Given the description of an element on the screen output the (x, y) to click on. 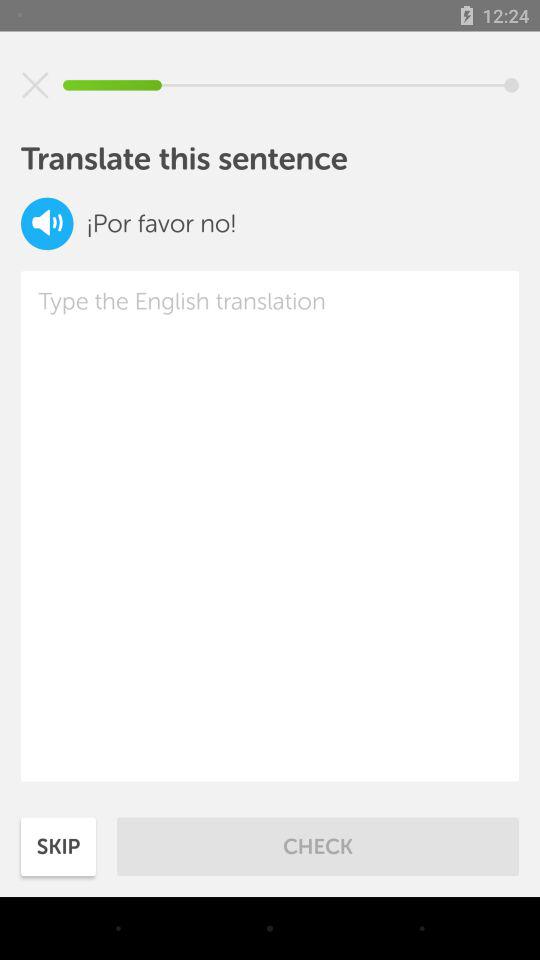
open the icon next to check item (58, 846)
